Given the description of an element on the screen output the (x, y) to click on. 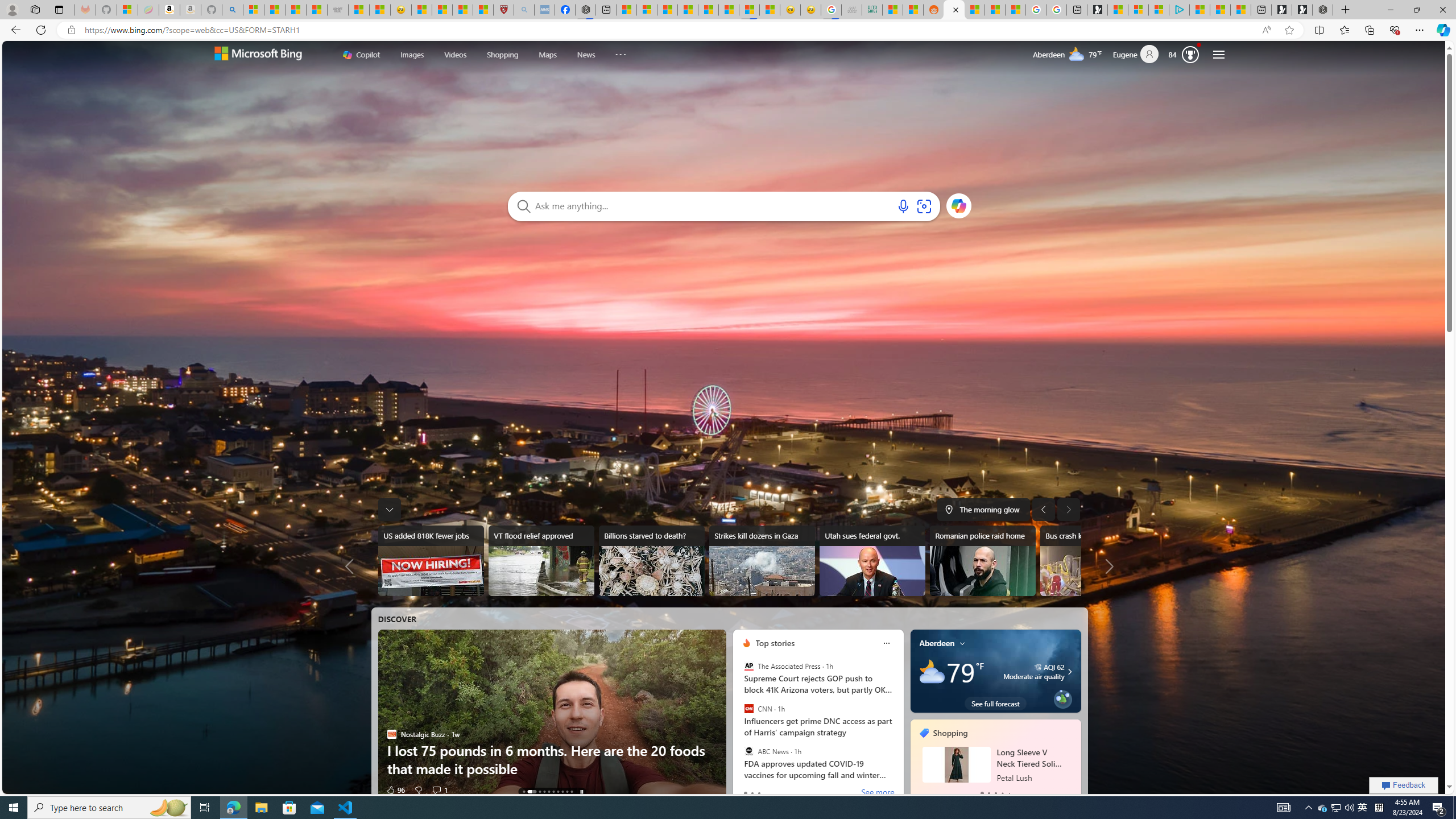
AutomationID: rh_meter (1189, 54)
Robert H. Shmerling, MD - Harvard Health (503, 9)
tab-0 (981, 793)
Search using an image (923, 205)
Class: scopes  (494, 53)
Strikes kill dozens in Gaza (762, 560)
Next image (1068, 508)
